Given the description of an element on the screen output the (x, y) to click on. 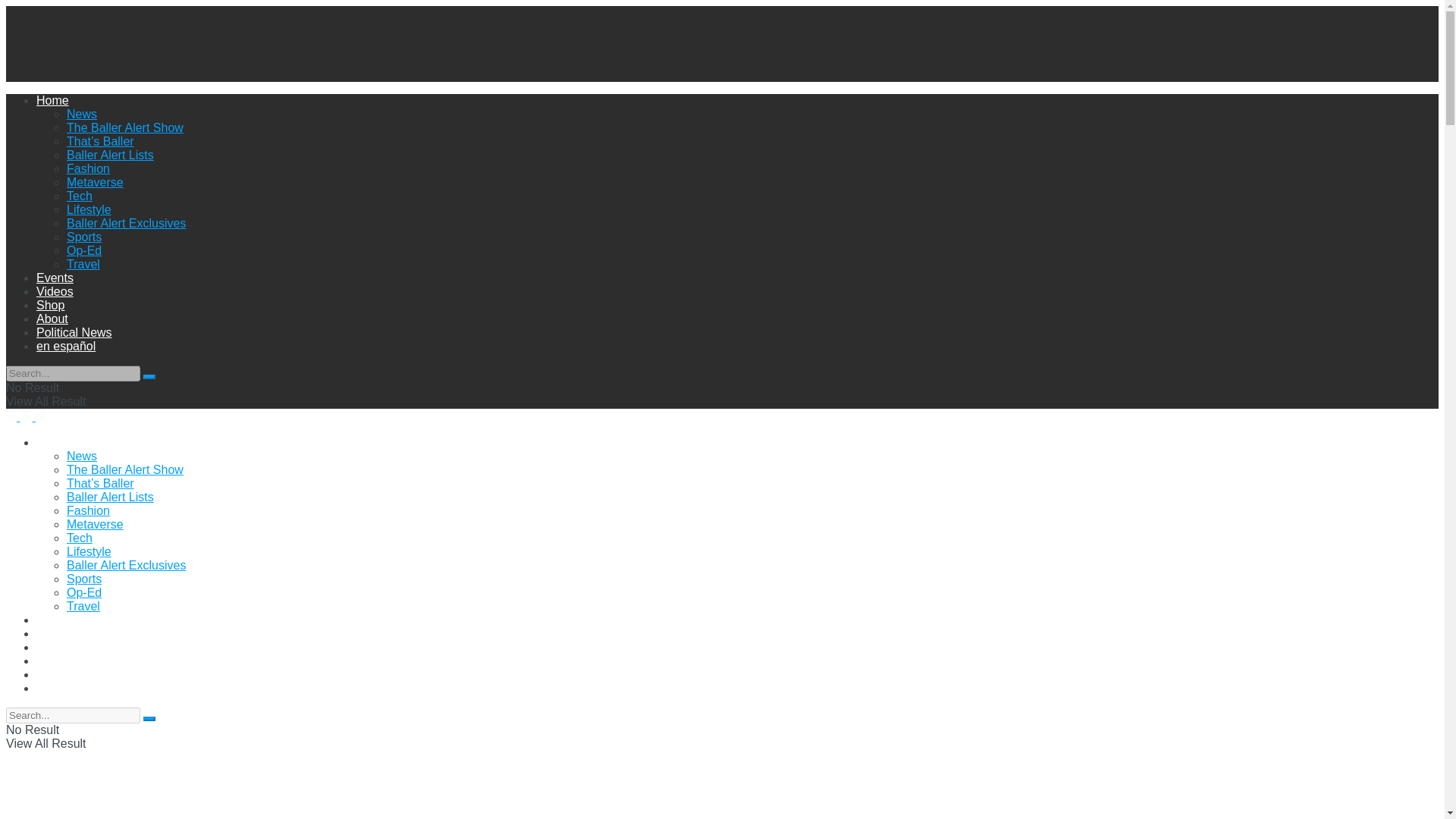
Travel (83, 264)
Baller Alert Lists (110, 496)
Op-Ed (83, 250)
Tech (79, 195)
Events (55, 277)
Fashion (88, 168)
Lifestyle (89, 209)
Baller Alert Exclusives (126, 564)
Fashion (88, 510)
Baller Alert Lists (110, 154)
